Given the description of an element on the screen output the (x, y) to click on. 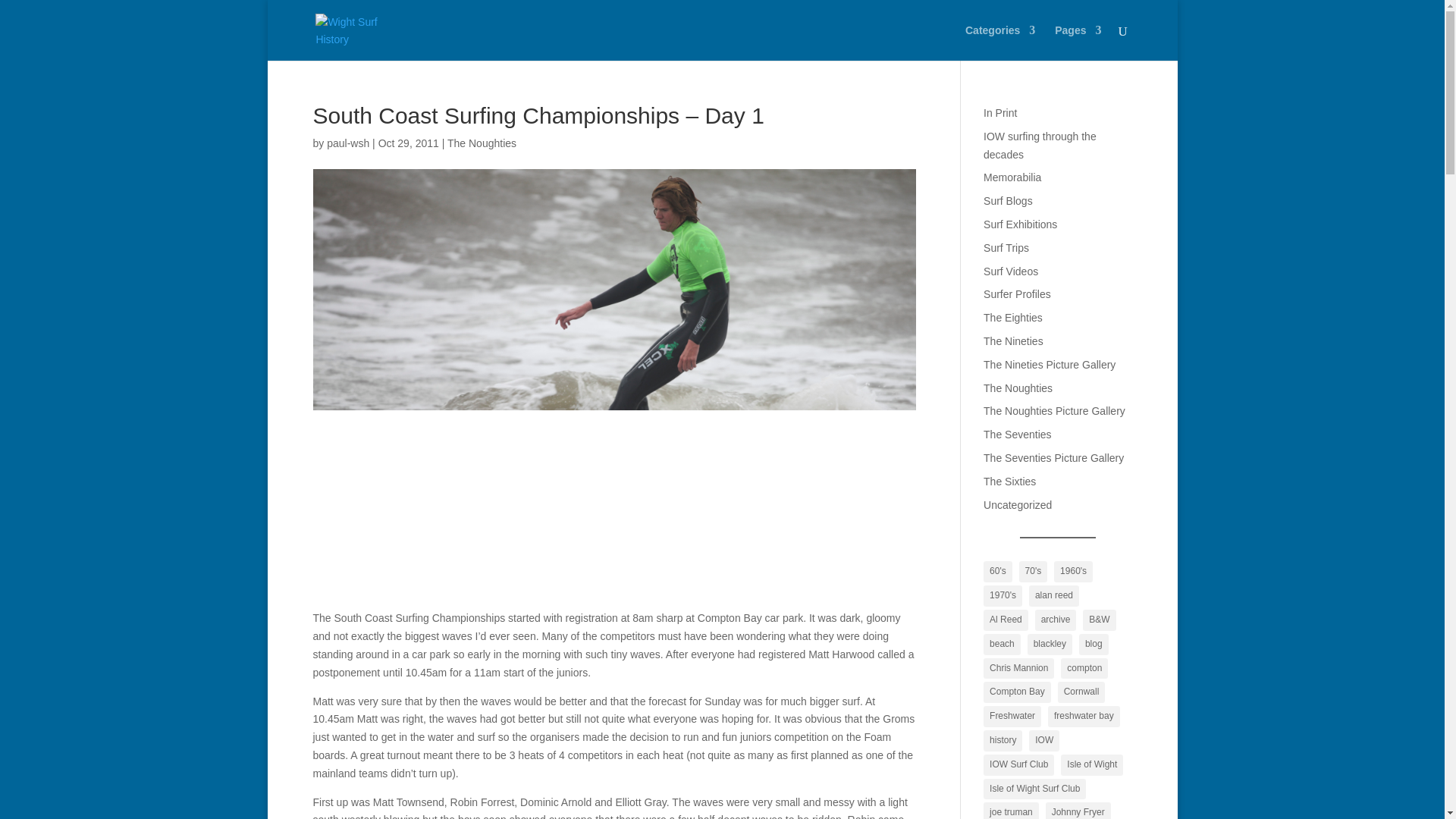
Categories (1000, 42)
The Noughties (481, 143)
paul-wsh (347, 143)
Posts by paul-wsh (347, 143)
Pages (1077, 42)
